Given the description of an element on the screen output the (x, y) to click on. 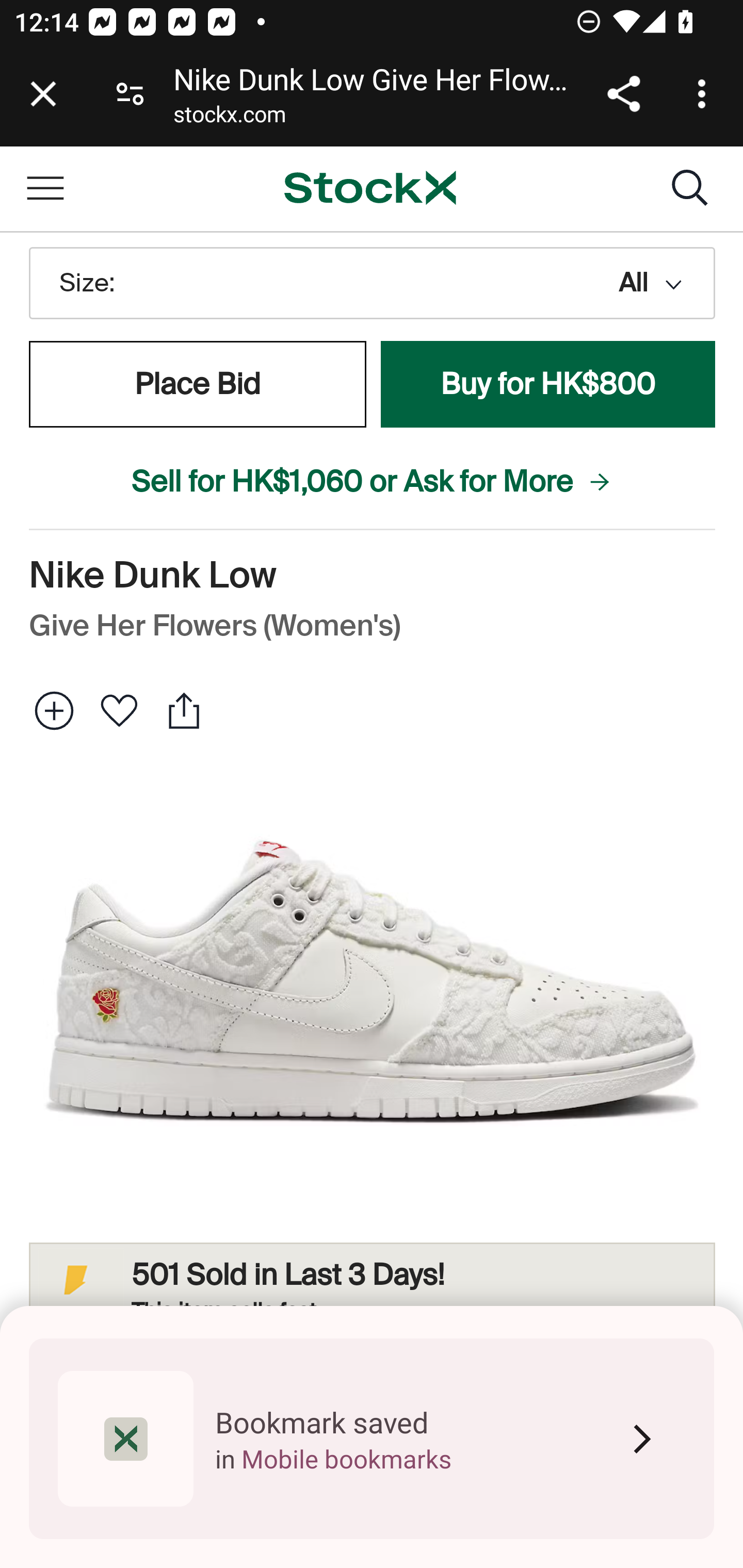
Close tab (43, 93)
Share link address (623, 93)
Customize and control Google Chrome (705, 93)
Connection is secure (129, 93)
stockx.com (229, 117)
Edit folder Bookmark saved in Mobile bookmarks (371, 1439)
